Given the description of an element on the screen output the (x, y) to click on. 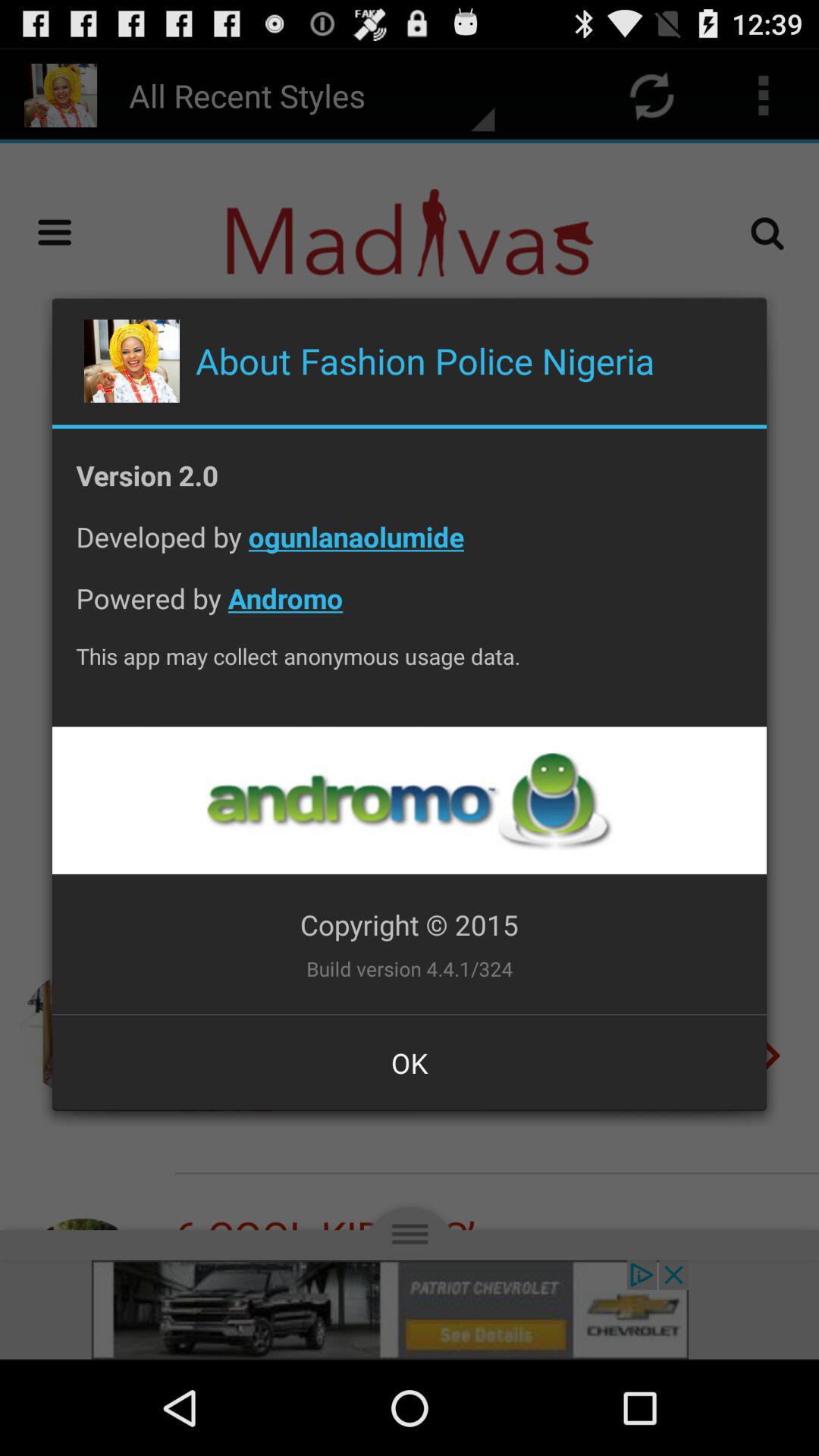
select link (408, 800)
